Given the description of an element on the screen output the (x, y) to click on. 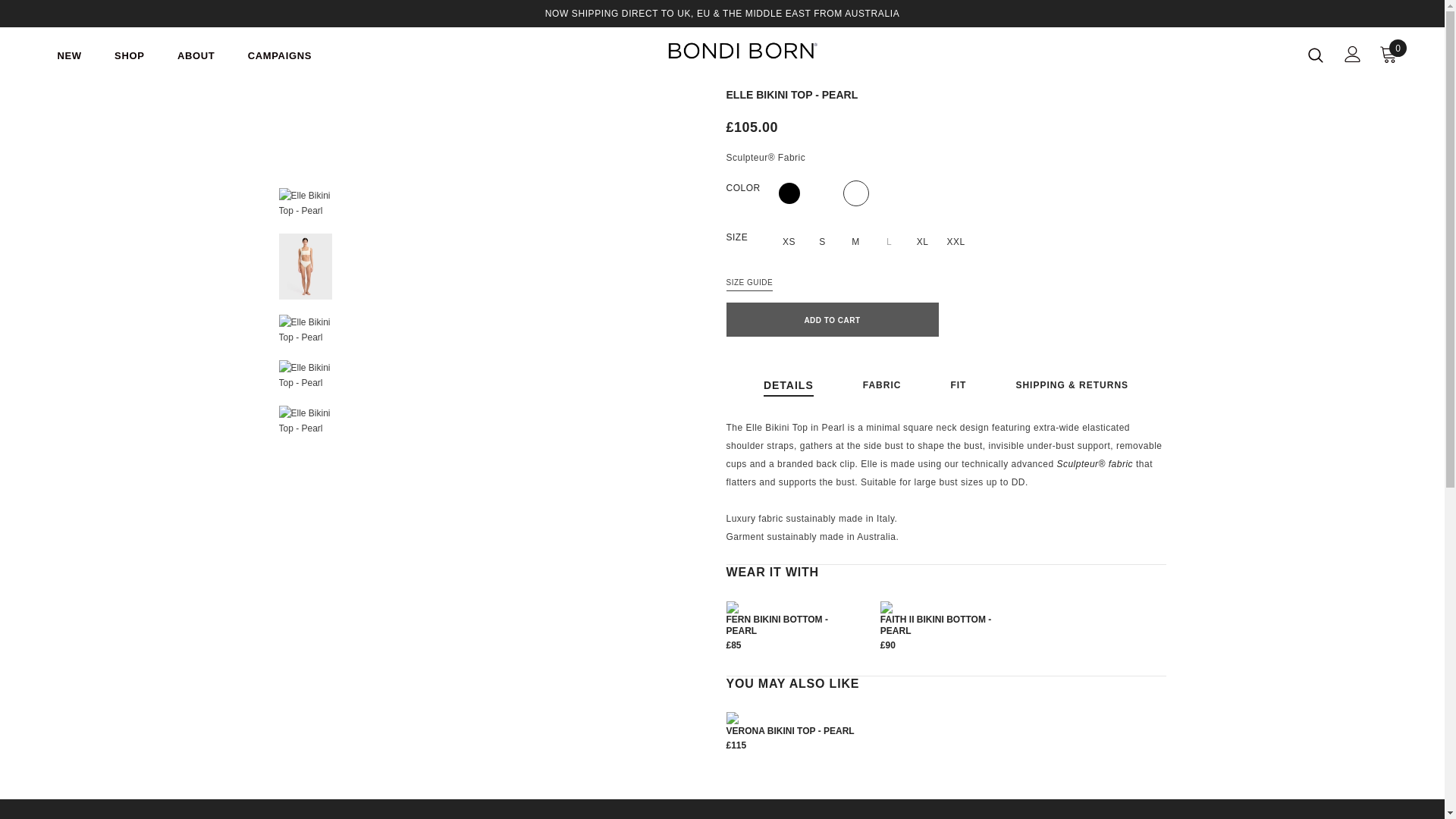
Logo (742, 49)
Search Icon (1315, 54)
Add to Cart (832, 319)
